Given the description of an element on the screen output the (x, y) to click on. 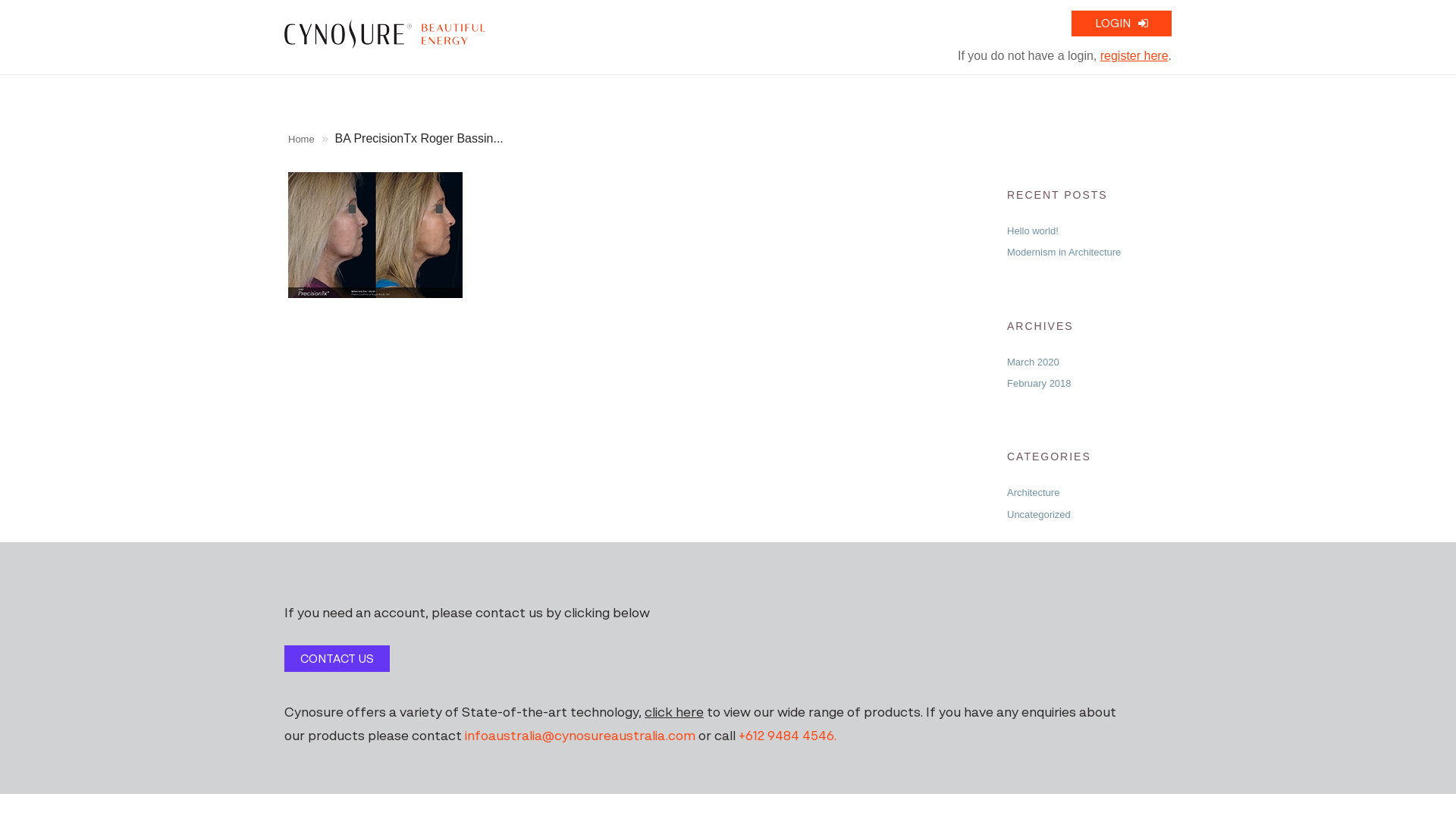
+612 9484 4546. Element type: text (787, 736)
Hello world! Element type: text (1032, 230)
infoaustralia@cynosureaustralia.com Element type: text (579, 736)
click here Element type: text (673, 712)
LOGIN Element type: text (1121, 23)
Cynosure Portal Element type: hover (384, 32)
February 2018 Element type: text (1039, 383)
register here Element type: text (1134, 55)
CONTACT US Element type: text (336, 658)
Home Element type: text (301, 138)
Modernism in Architecture Element type: text (1063, 251)
March 2020 Element type: text (1033, 361)
Cynosure Portal Element type: hover (384, 33)
Architecture Element type: text (1033, 492)
Uncategorized Element type: text (1038, 514)
